Given the description of an element on the screen output the (x, y) to click on. 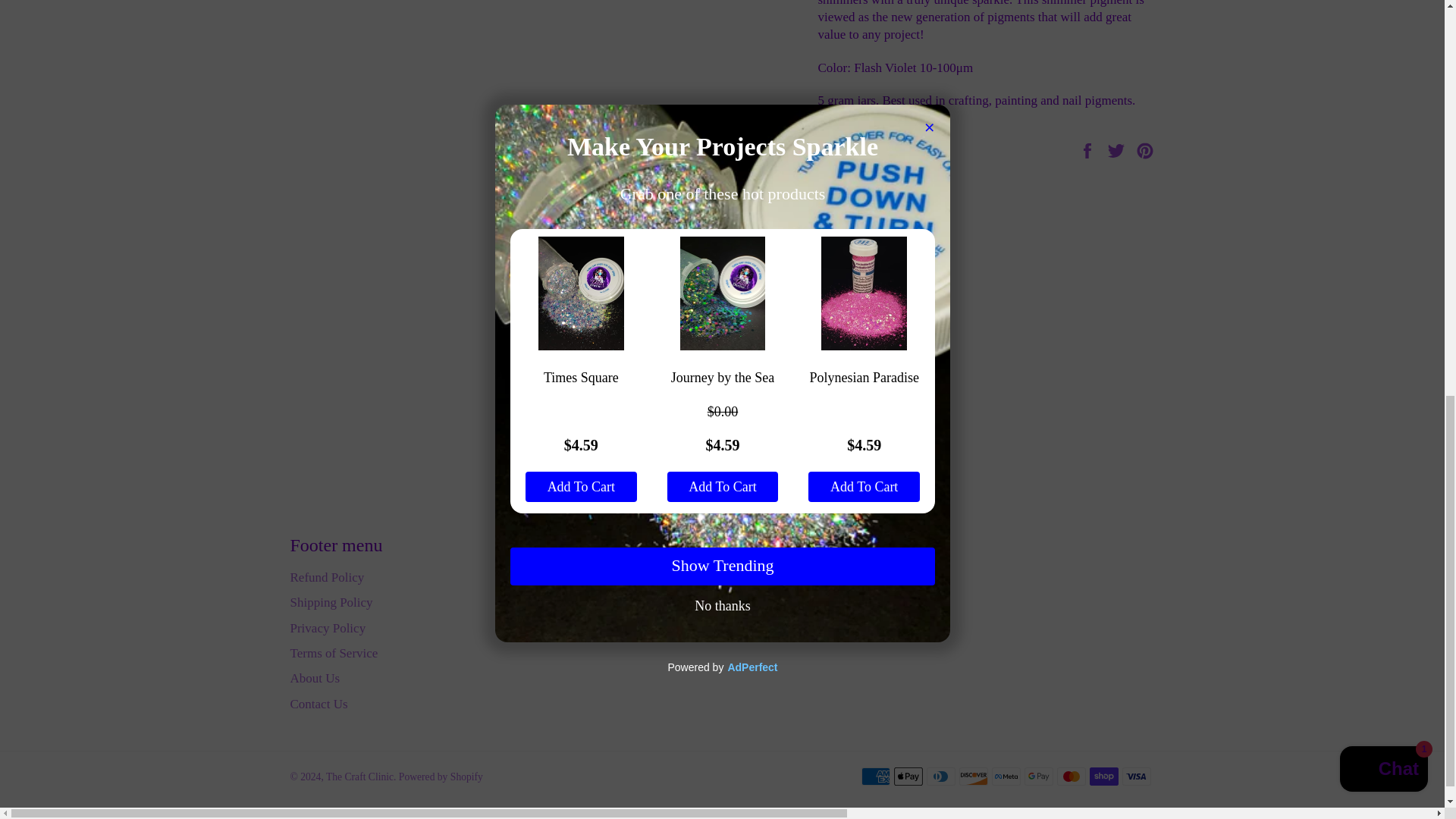
The Craft Clinic on YouTube (851, 578)
Share on Facebook (1088, 148)
Pin on Pinterest (1144, 148)
The Craft Clinic on Facebook (735, 578)
Tweet on Twitter (1117, 148)
The Craft Clinic on Instagram (821, 578)
The Craft Clinic on Pinterest (793, 578)
The Craft Clinic on Twitter (764, 578)
